Given the description of an element on the screen output the (x, y) to click on. 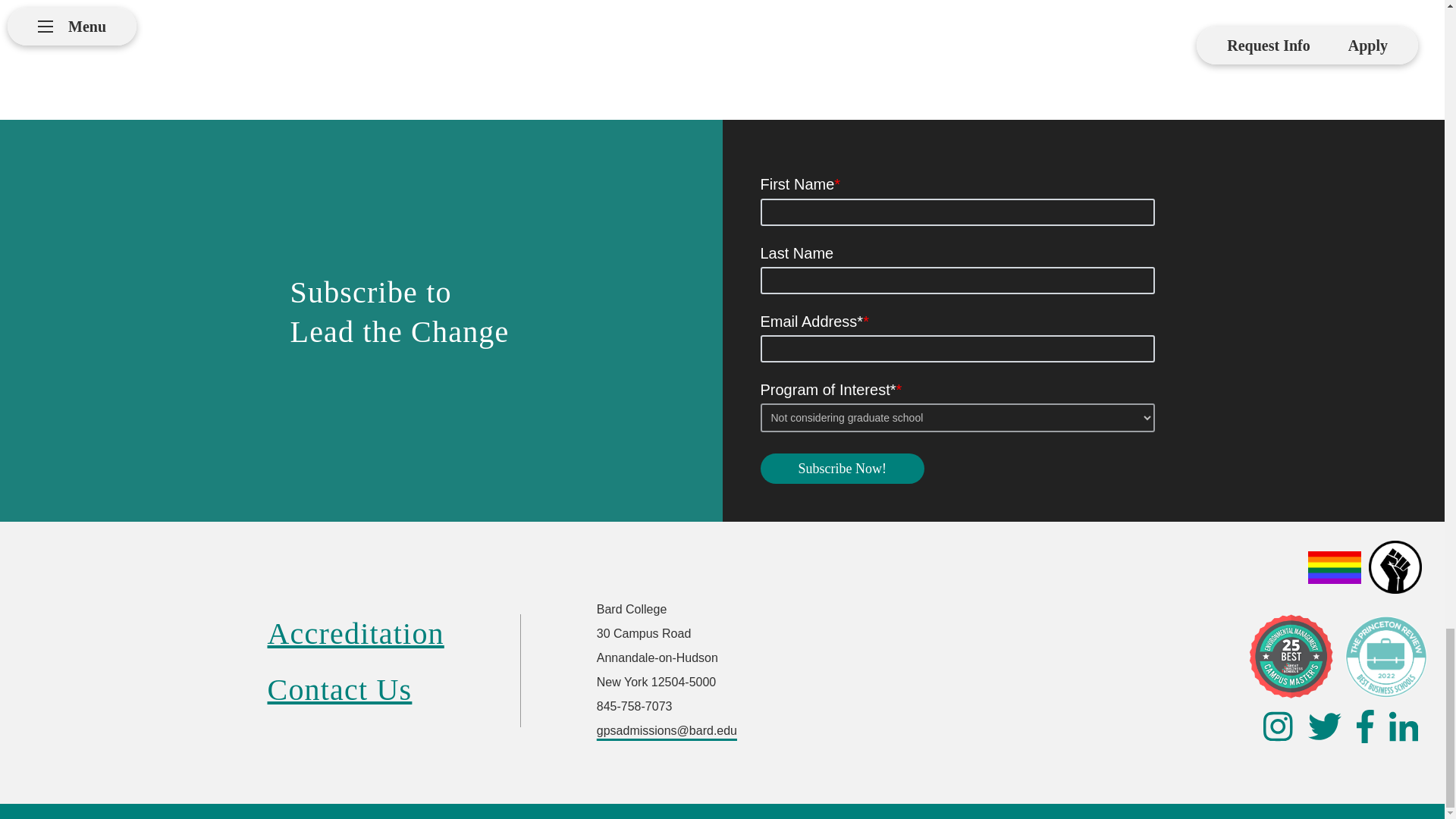
GBS-25-best-campus-masters-env-sust-mgmt-03-768x768 (1291, 656)
lgbt-flag (1334, 567)
Subscribe Now! (841, 468)
BLM Fist (1395, 566)
Top-Business-Schools 2021-1 (1385, 656)
